Given the description of an element on the screen output the (x, y) to click on. 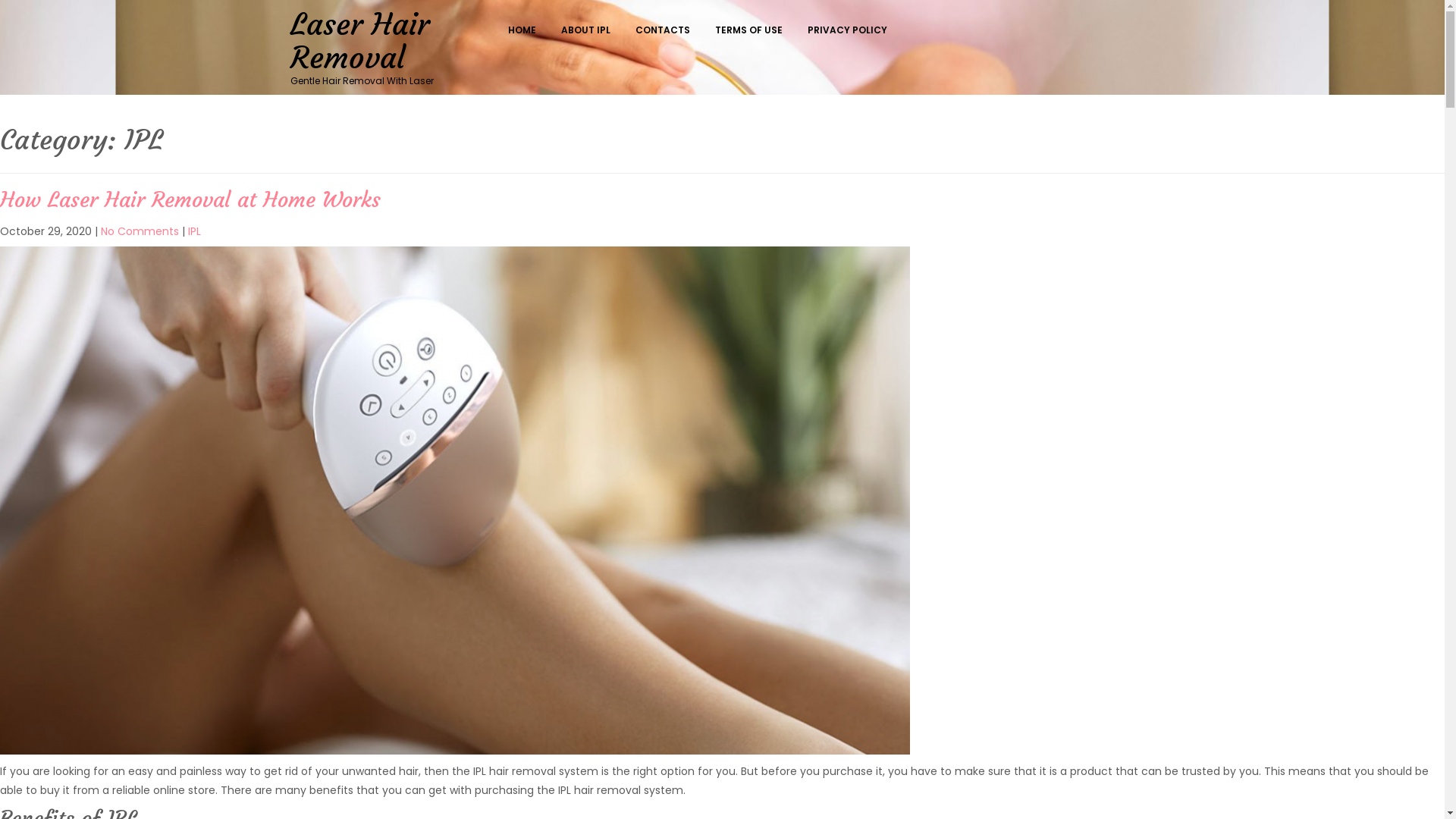
Laser Hair Removal Element type: text (358, 40)
PRIVACY POLICY Element type: text (851, 29)
HOME Element type: text (525, 29)
TERMS OF USE Element type: text (752, 29)
IPL Element type: text (194, 230)
ABOUT IPL Element type: text (589, 29)
CONTACTS Element type: text (666, 29)
